Given the description of an element on the screen output the (x, y) to click on. 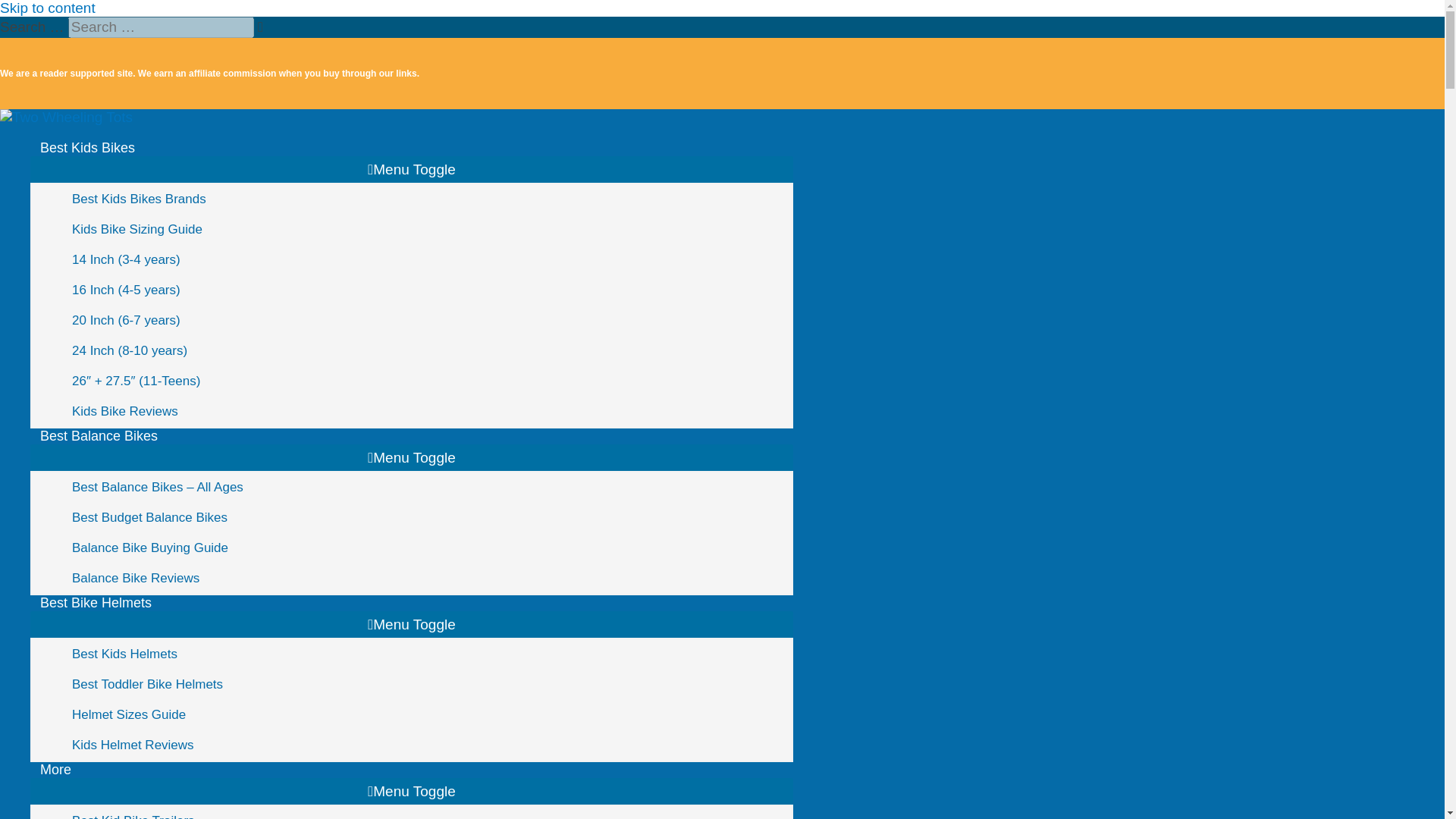
Menu Toggle (411, 457)
Balance Bike Buying Guide (427, 548)
Menu Toggle (411, 791)
Helmet Sizes Guide (427, 715)
Best Budget Balance Bikes (427, 517)
Skip to content (48, 7)
Best Kids Helmets (427, 654)
Best Toddler Bike Helmets (427, 684)
More (411, 770)
Kids Helmet Reviews (427, 745)
